Given the description of an element on the screen output the (x, y) to click on. 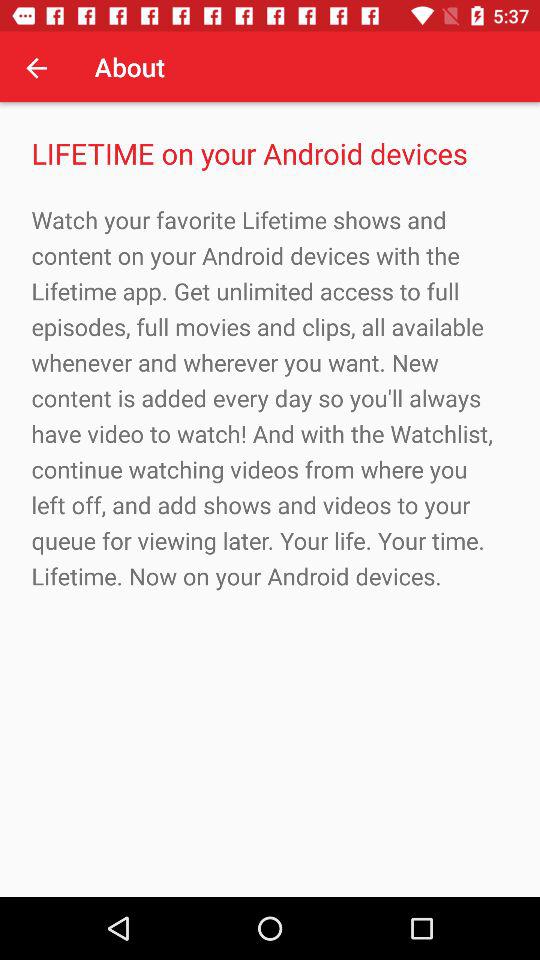
click watch your favorite (269, 398)
